Given the description of an element on the screen output the (x, y) to click on. 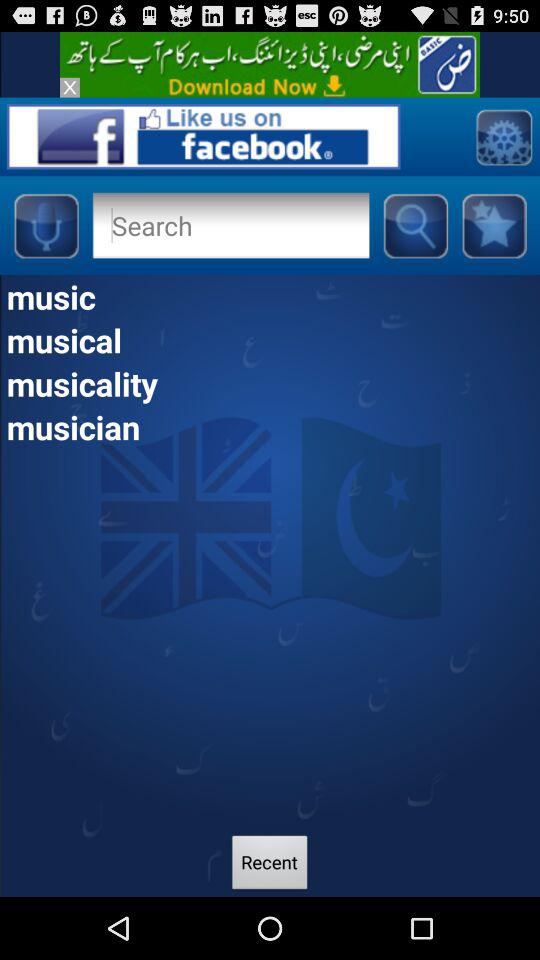
exit button (69, 87)
